Given the description of an element on the screen output the (x, y) to click on. 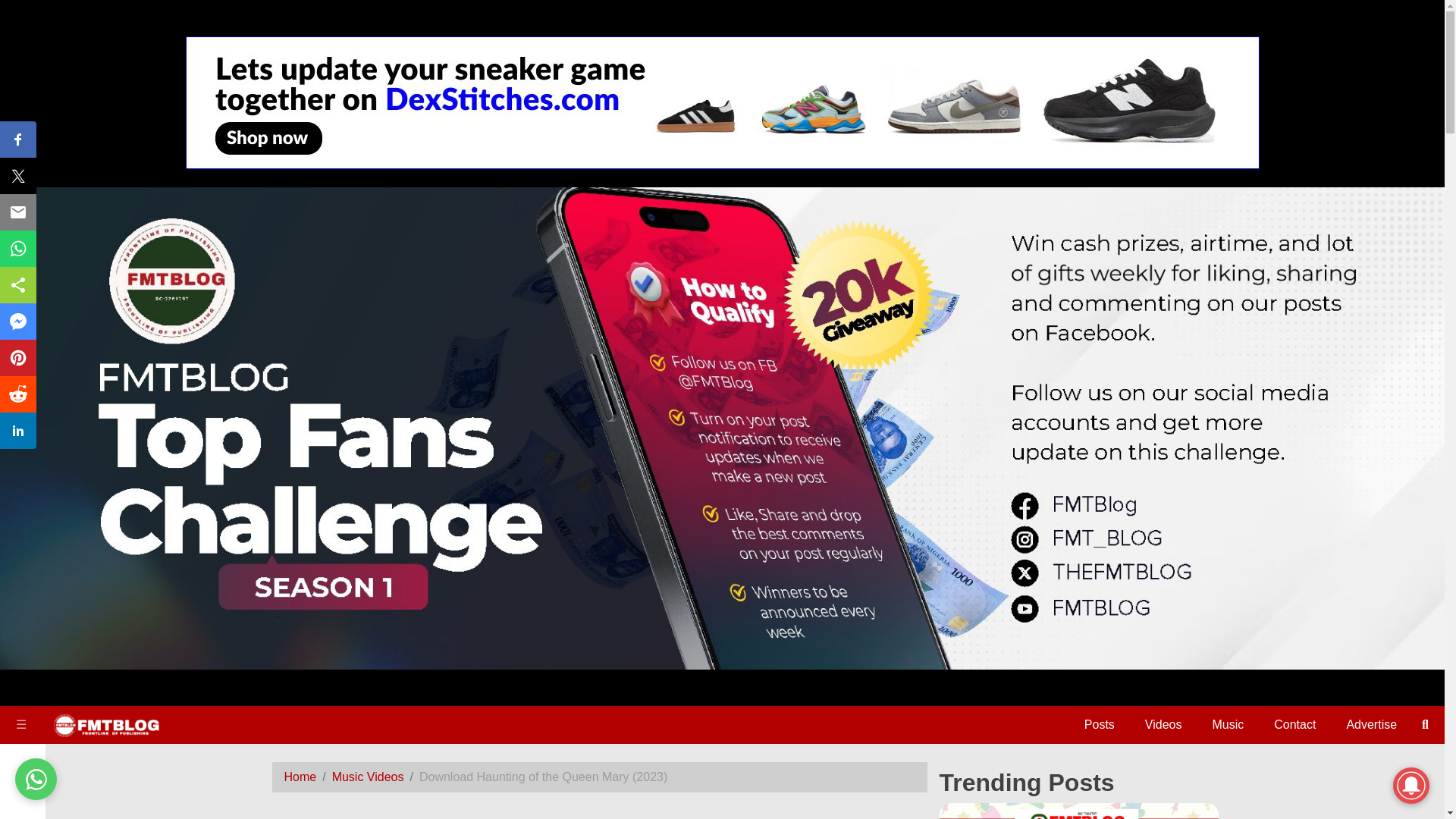
Music (22, 372)
Music (1227, 725)
Search (22, 534)
Contact (1294, 725)
Contact Us (22, 497)
Trending (22, 461)
movies (22, 420)
Posts (22, 325)
Home (22, 284)
Advertise (1371, 725)
Videos (1162, 725)
Posts (1098, 725)
